Given the description of an element on the screen output the (x, y) to click on. 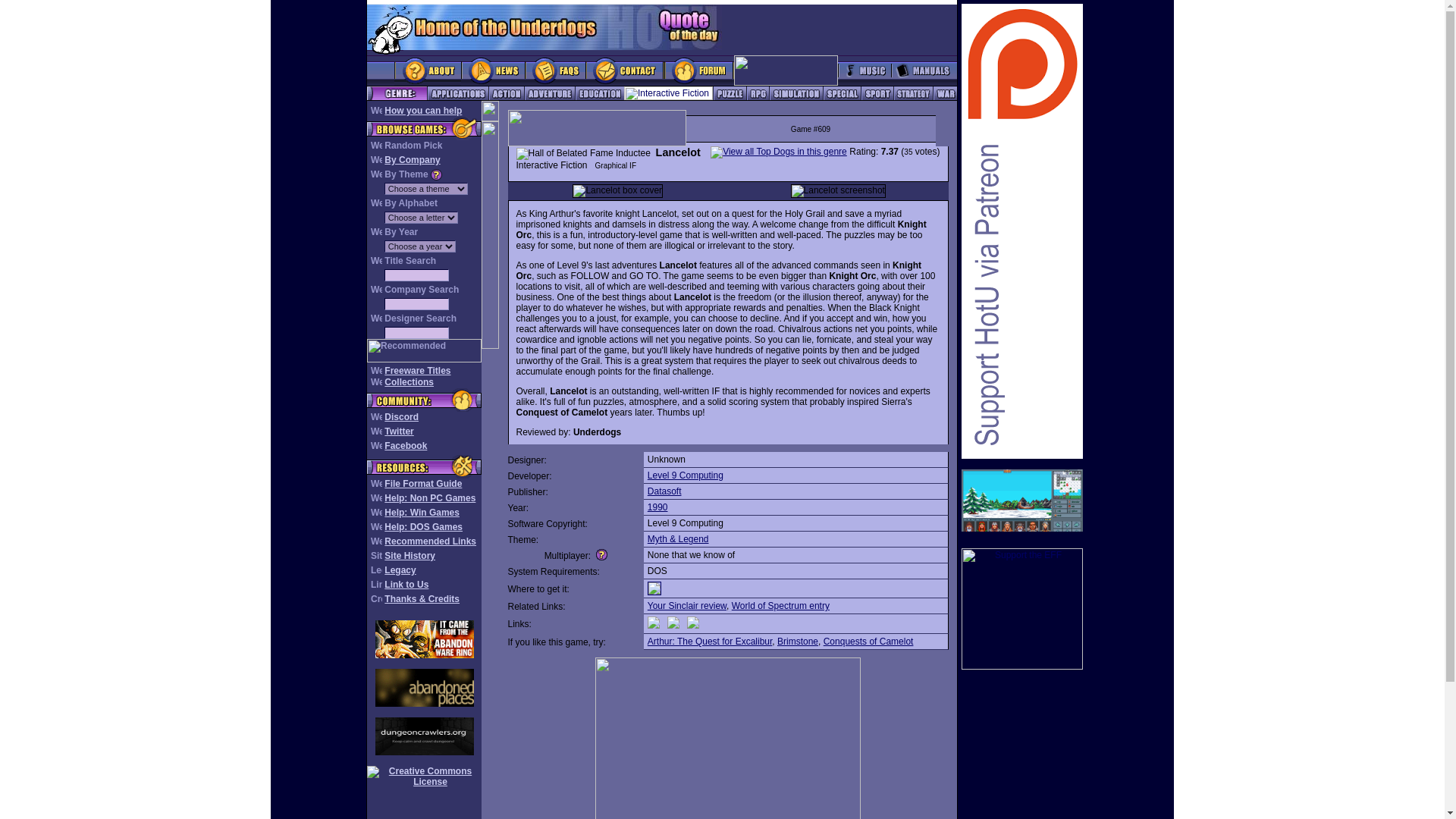
By Company (411, 159)
Help: Non PC Games (430, 498)
Freeware Titles (416, 370)
Twitter (398, 430)
File Format Guide (422, 483)
Facebook (405, 445)
Legacy (399, 570)
How you can help (422, 110)
Random Pick (413, 145)
Discord (401, 416)
Help: DOS Games (423, 526)
Collections (408, 381)
Link to Us (406, 584)
Site History (409, 555)
Recommended Links (430, 541)
